Given the description of an element on the screen output the (x, y) to click on. 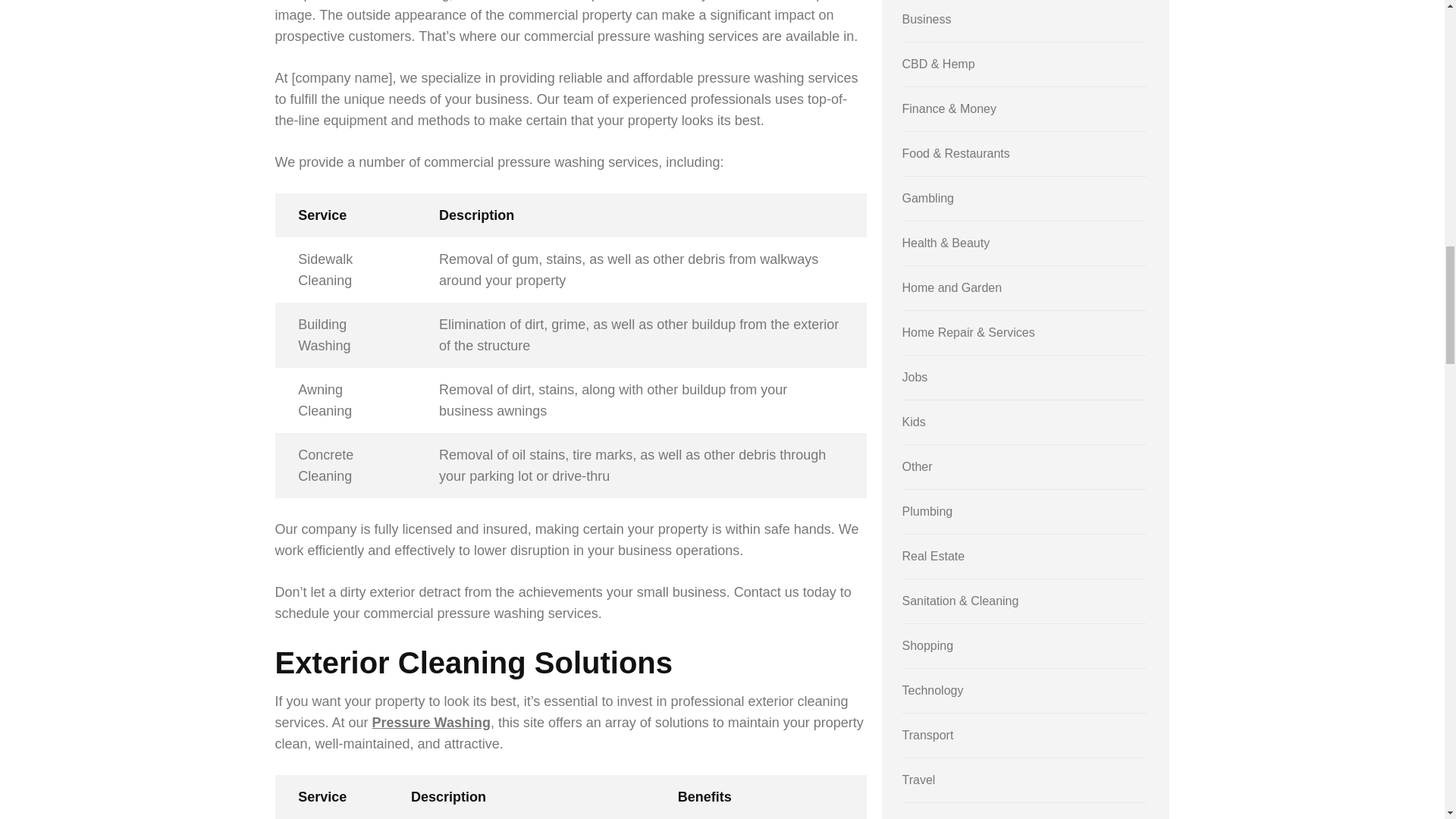
Pressure Washing (431, 722)
